Given the description of an element on the screen output the (x, y) to click on. 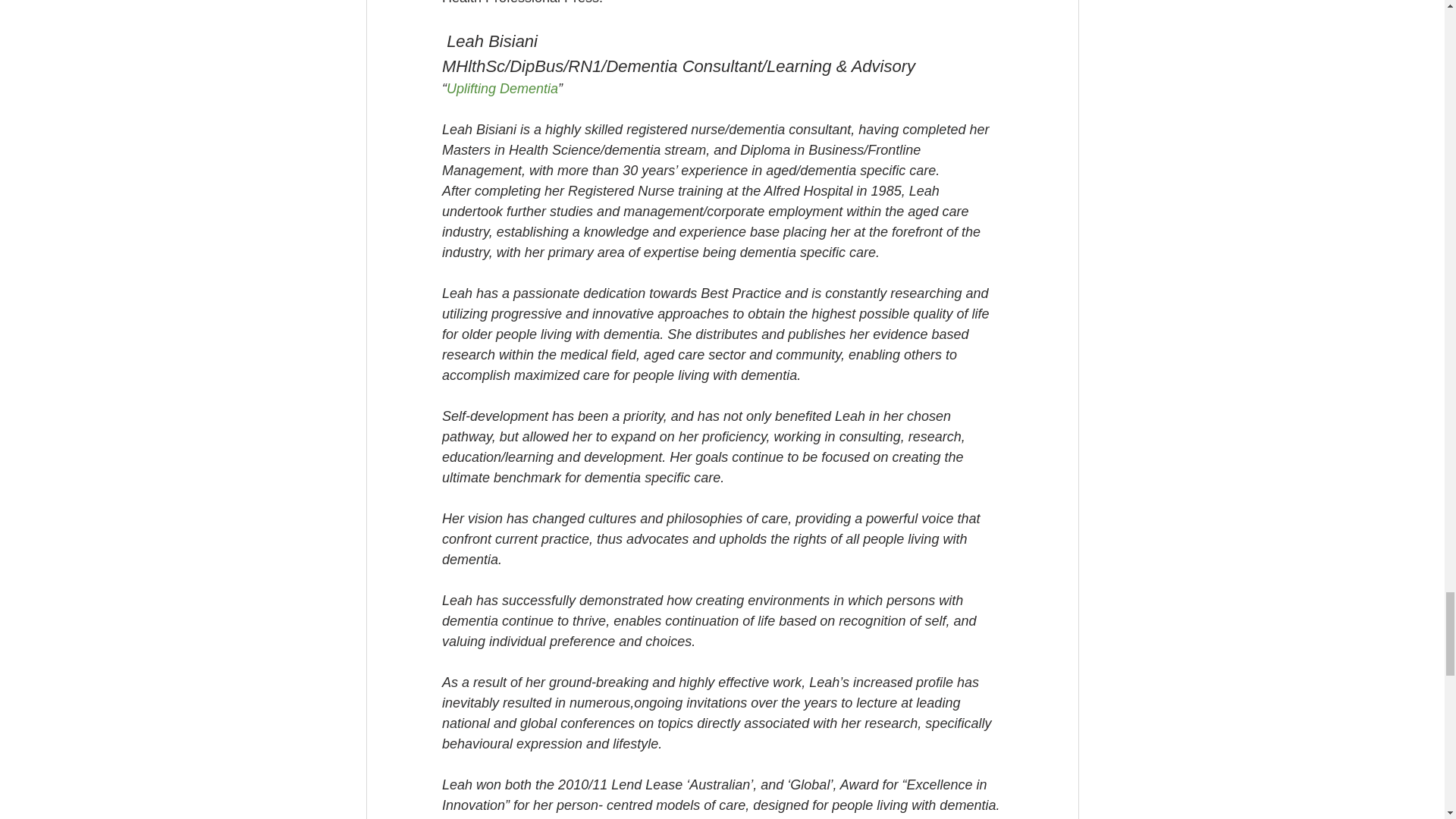
Uplifting Dementia (501, 88)
